Given the description of an element on the screen output the (x, y) to click on. 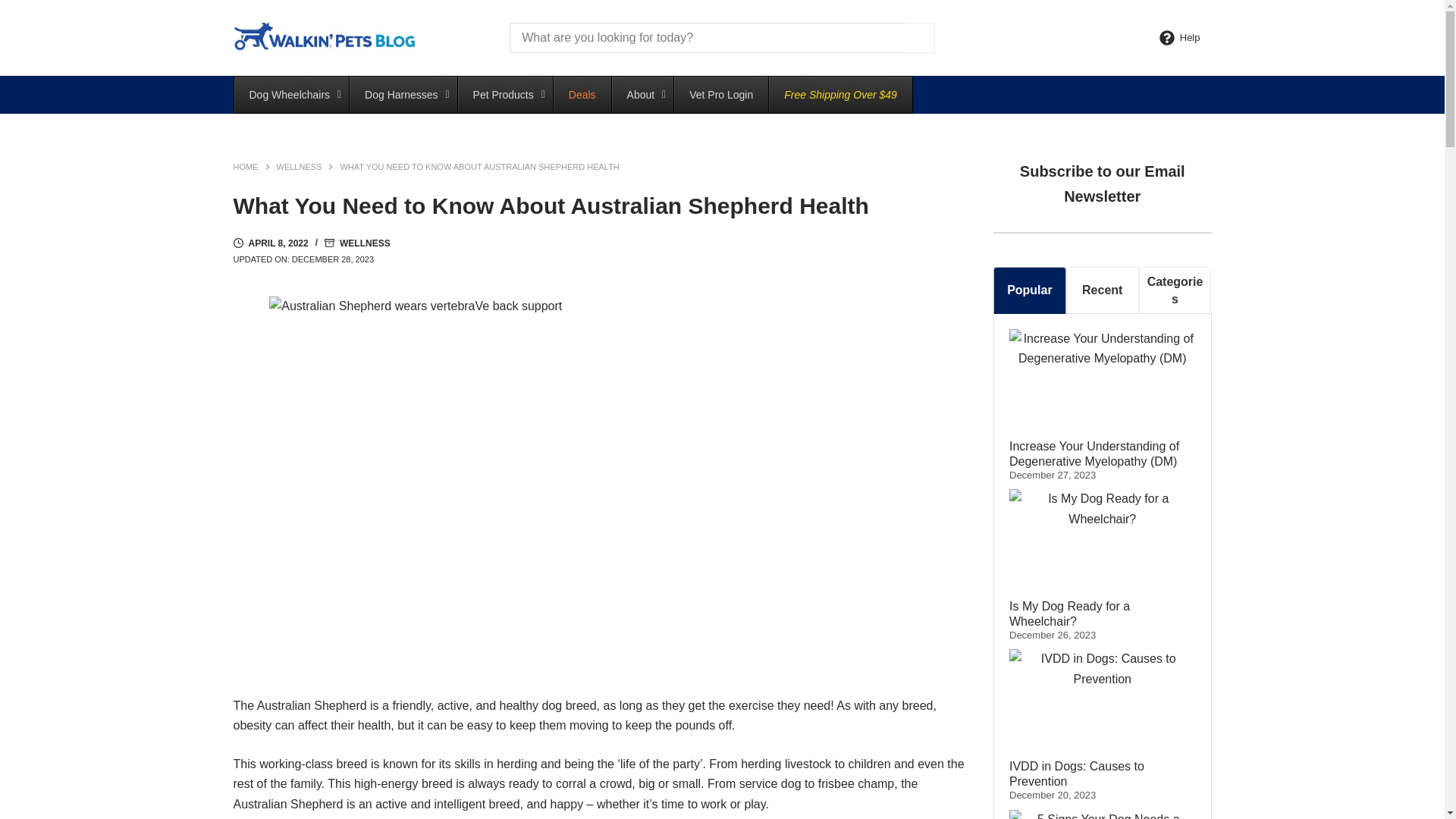
What You Need to Know About Australian Shepherd Health (599, 205)
Search for... (706, 37)
Skip to content (15, 7)
